Given the description of an element on the screen output the (x, y) to click on. 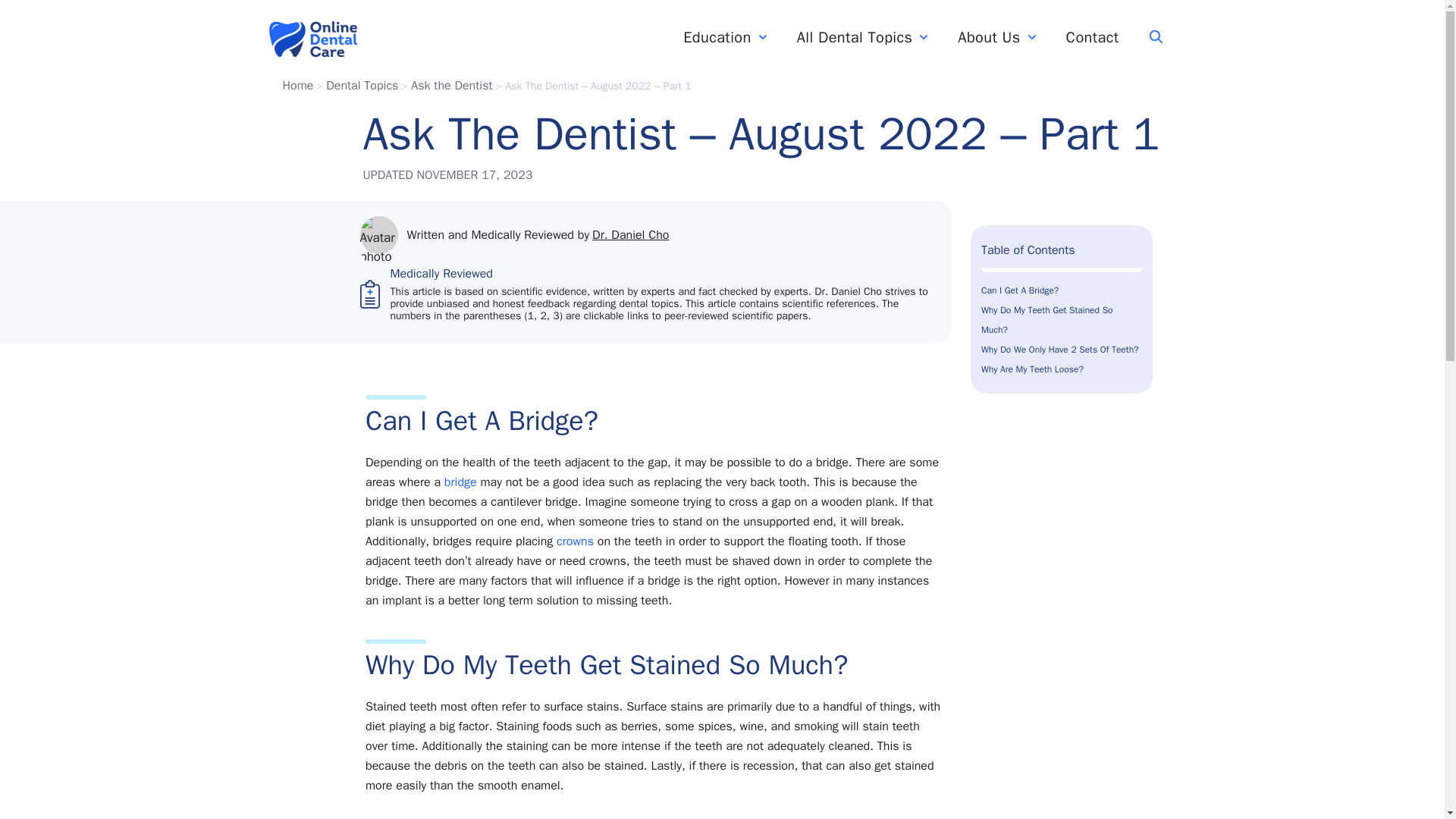
Contact (1092, 37)
All Dental Topics (862, 37)
Education (724, 37)
About Us (995, 37)
View all posts by Dr. Daniel Cho (630, 234)
